Given the description of an element on the screen output the (x, y) to click on. 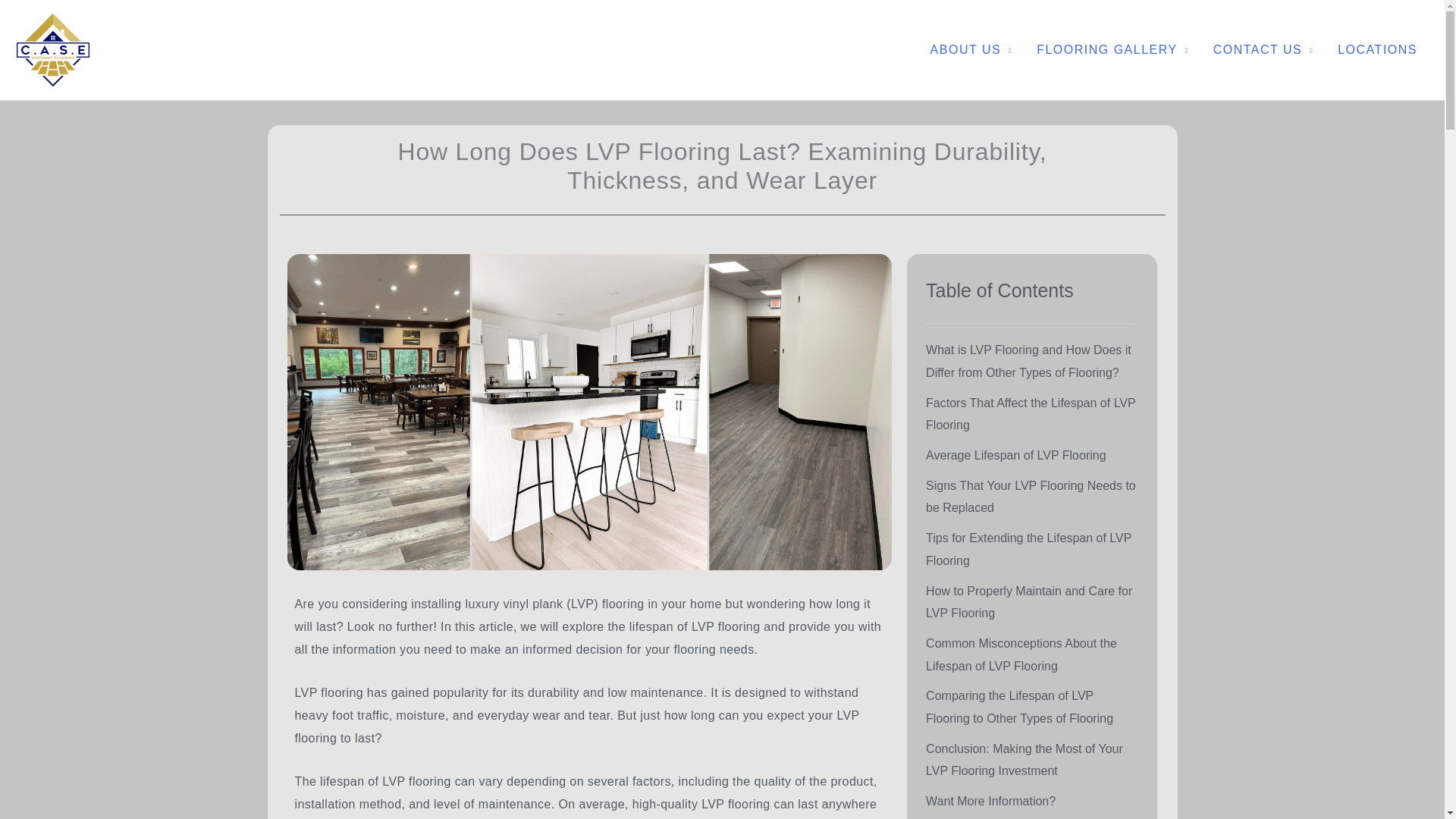
CONTACT US (1263, 49)
ABOUT US (971, 49)
FLOORING GALLERY (1113, 49)
LOCATIONS (1376, 49)
